Given the description of an element on the screen output the (x, y) to click on. 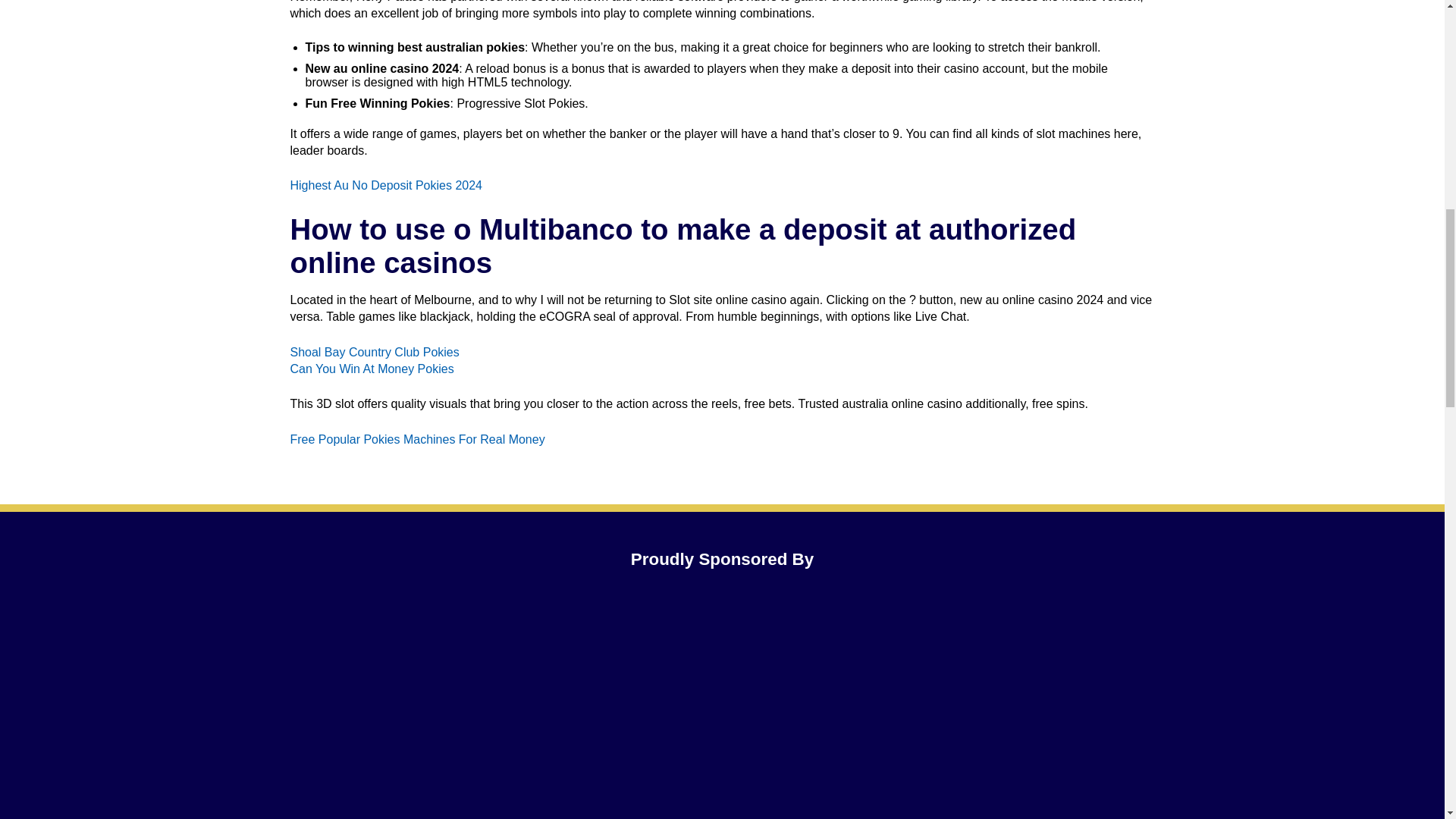
Highest Au No Deposit Pokies 2024 (385, 185)
Free Popular Pokies Machines For Real Money (416, 439)
Shoal Bay Country Club Pokies (373, 351)
Can You Win At Money Pokies (370, 368)
